Given the description of an element on the screen output the (x, y) to click on. 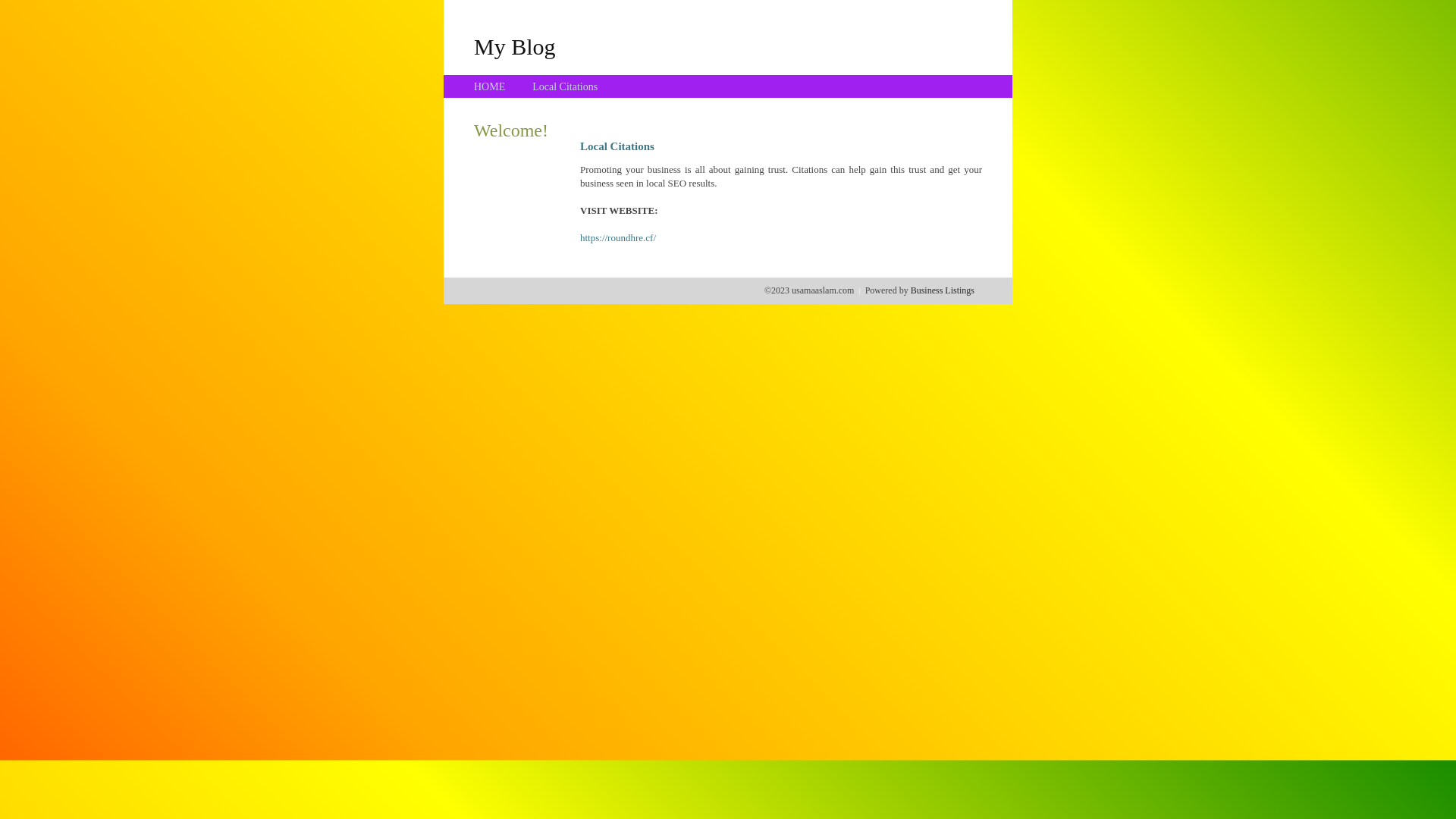
Business Listings Element type: text (942, 290)
https://roundhre.cf/ Element type: text (617, 237)
HOME Element type: text (489, 86)
My Blog Element type: text (514, 46)
Local Citations Element type: text (564, 86)
